Given the description of an element on the screen output the (x, y) to click on. 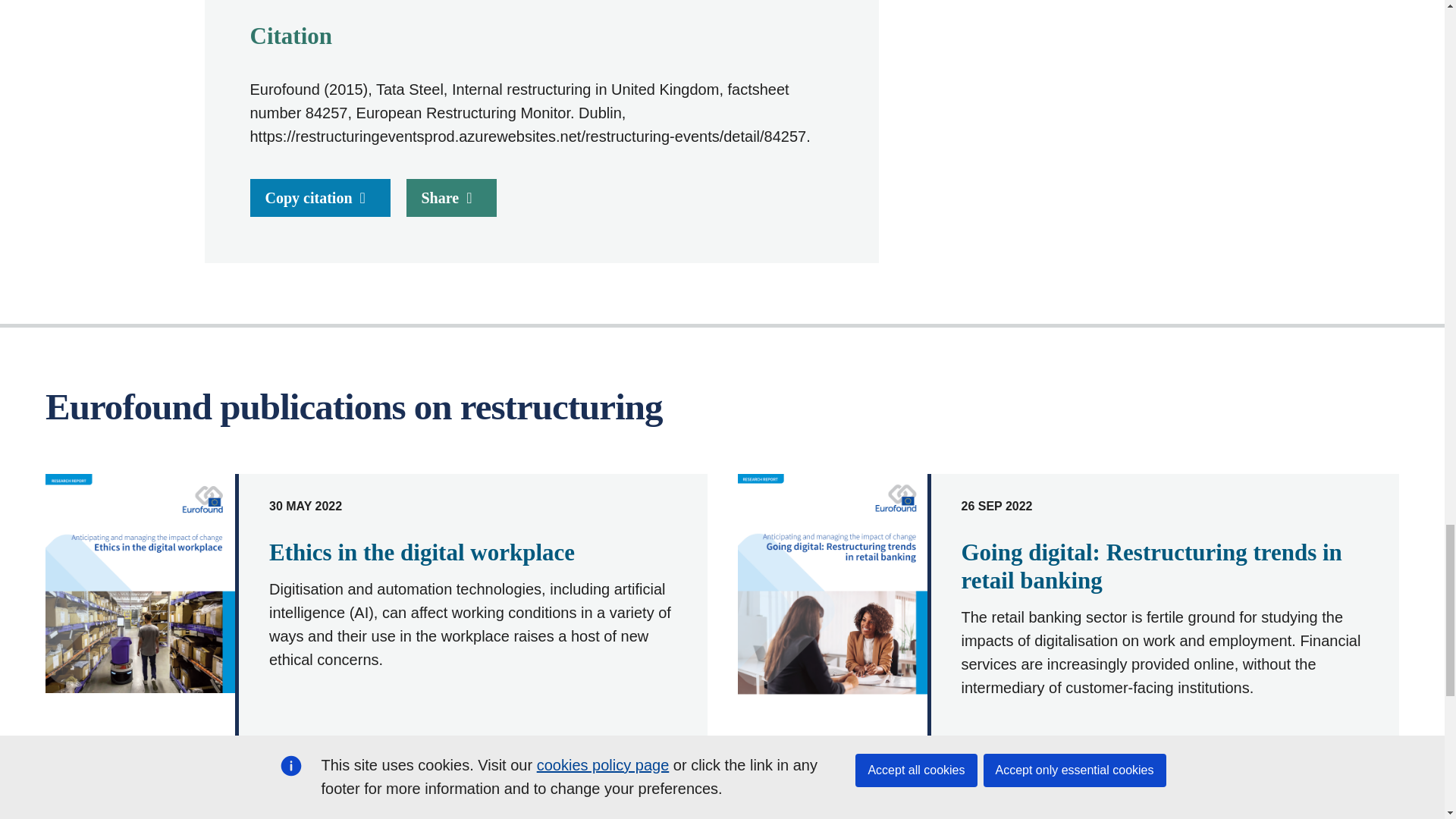
Ethics in the digital workplace (422, 551)
Copy citation (320, 198)
Share (451, 198)
Going digital: Restructuring trends in retail banking (1151, 565)
